Given the description of an element on the screen output the (x, y) to click on. 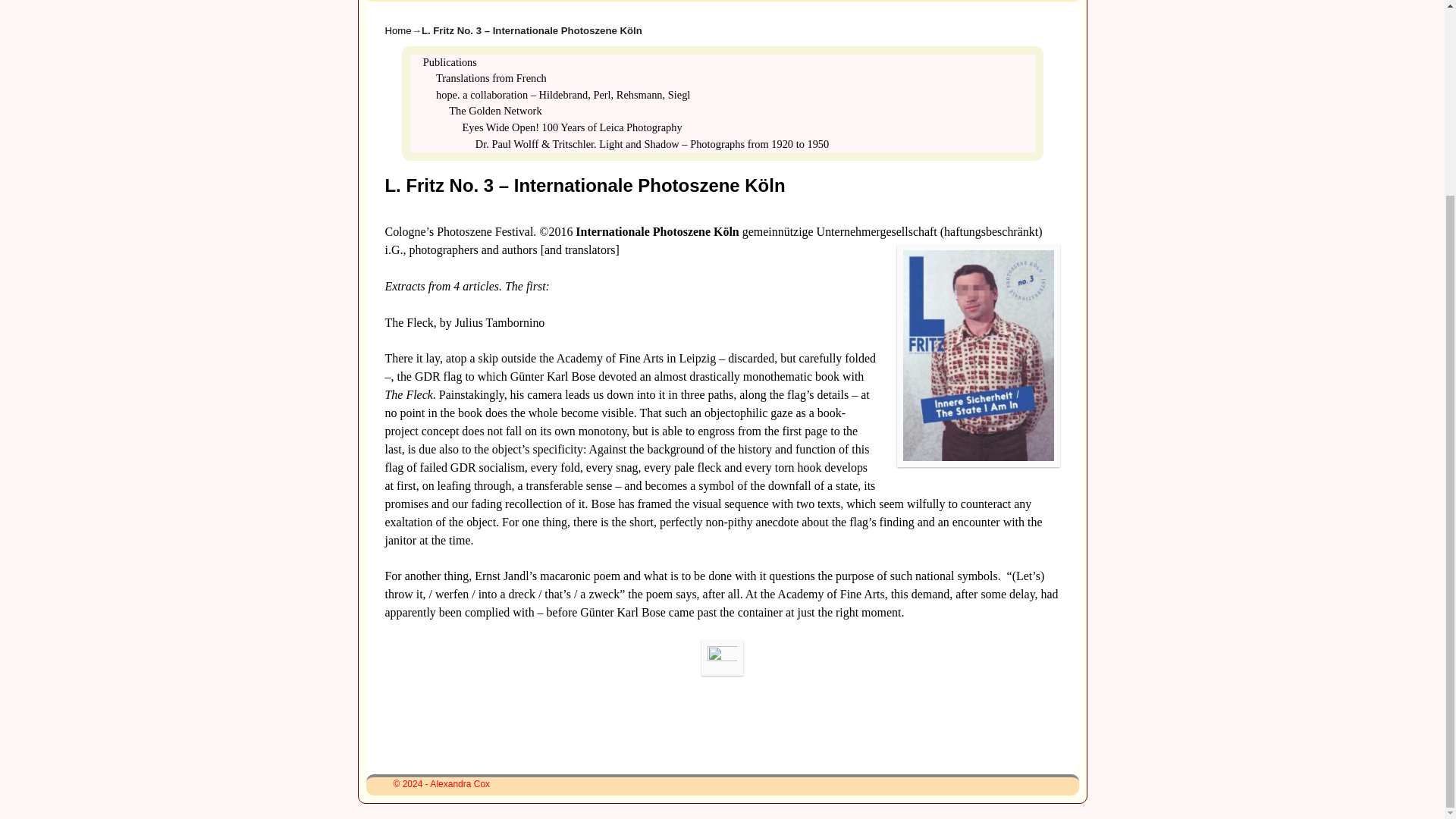
Eyes Wide Open! 100 Years of Leica Photography (572, 127)
The Golden Network (494, 110)
Single-page overview of more than 50 published translations (450, 61)
Publications (450, 61)
Home (398, 30)
More L. Fritz No. 3 (721, 657)
Eyes Wide Open! 100 Years of Leica Photography (572, 127)
Translations from French (491, 78)
Publications (411, 0)
